Given the description of an element on the screen output the (x, y) to click on. 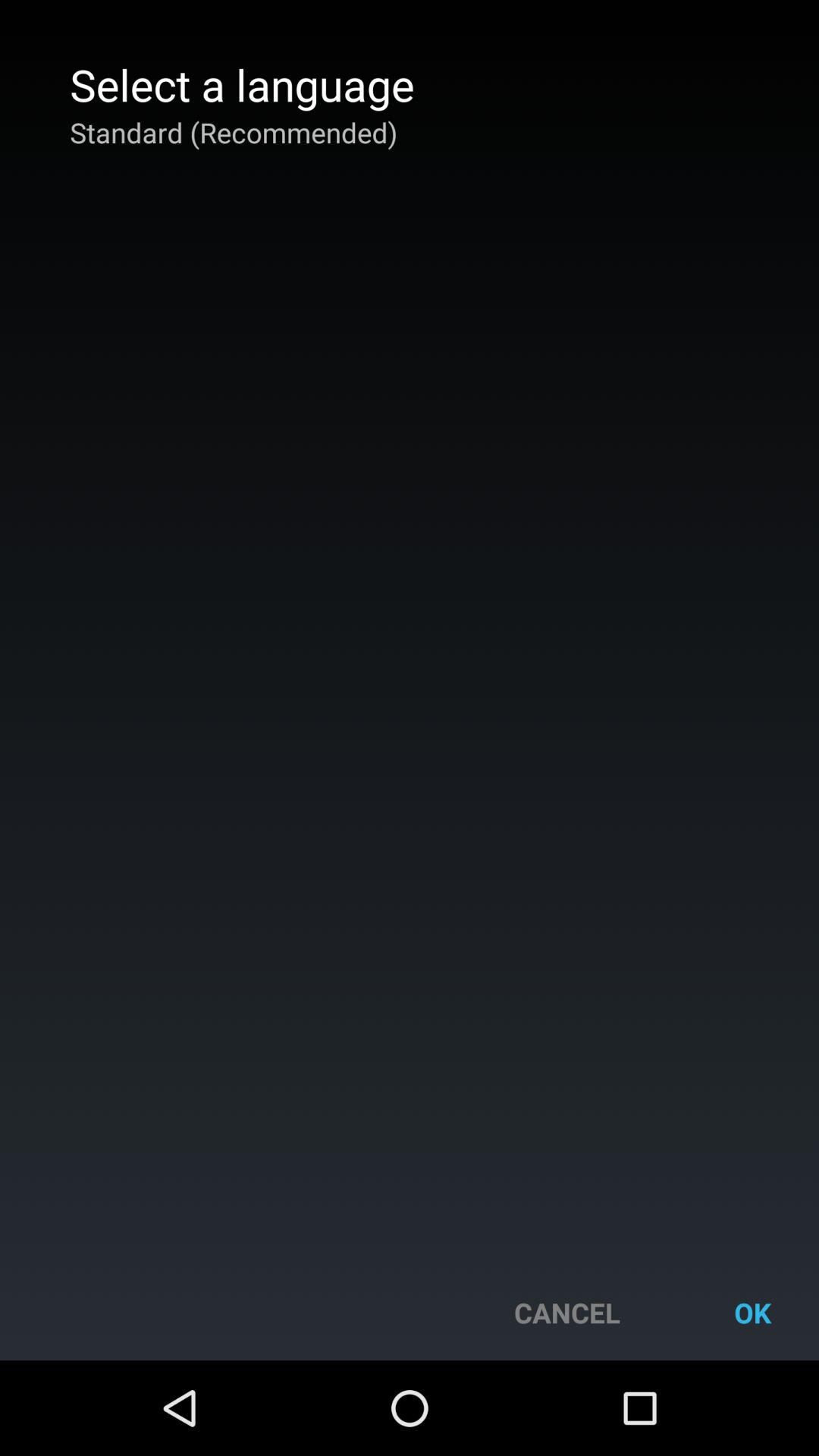
turn on the icon next to ok item (566, 1312)
